Given the description of an element on the screen output the (x, y) to click on. 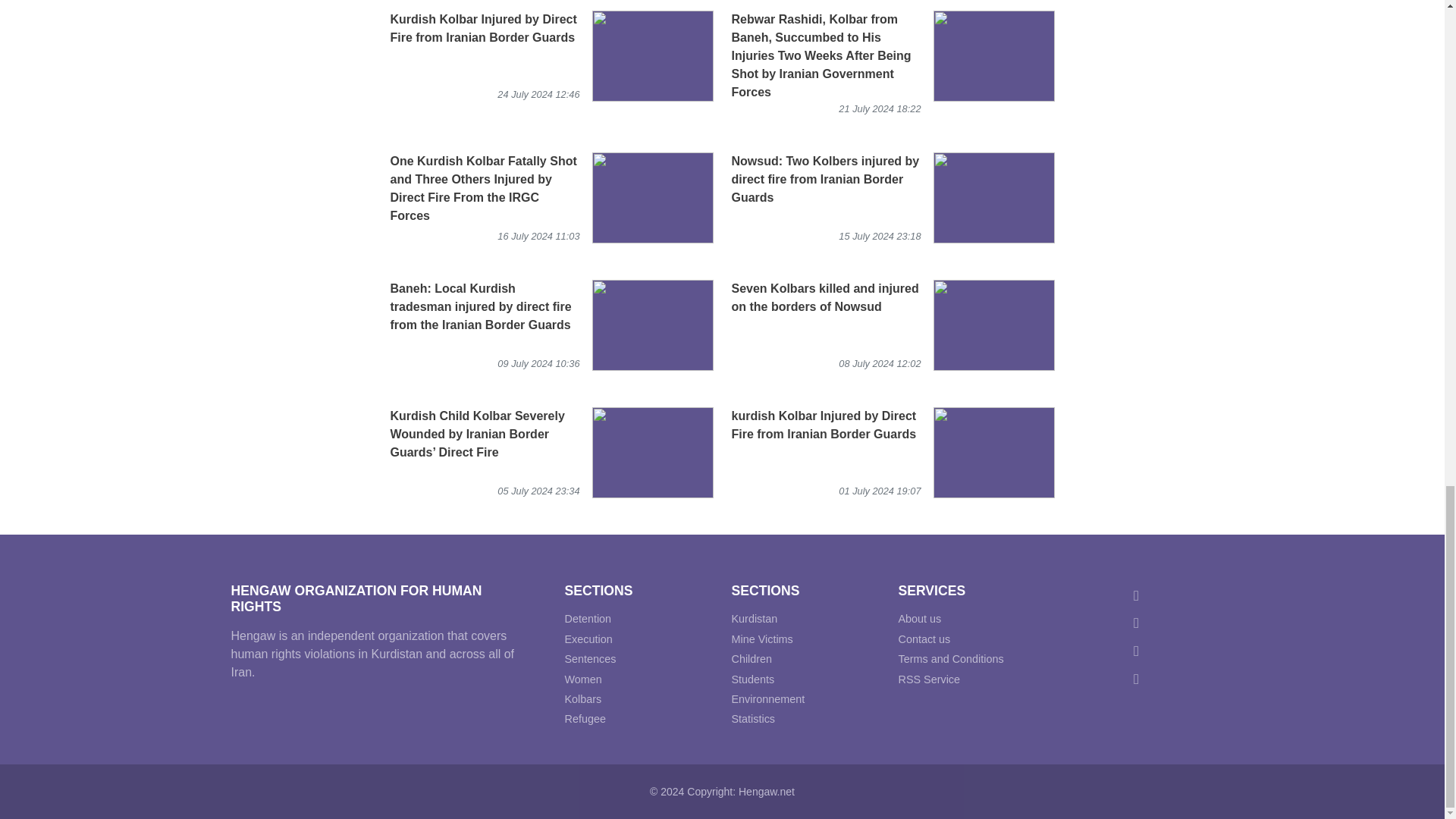
Youtube (1139, 678)
Instagram (1139, 621)
Execution (587, 639)
Sentences (589, 658)
Detention (587, 618)
Twitter (1139, 594)
Facebook (1139, 649)
